Given the description of an element on the screen output the (x, y) to click on. 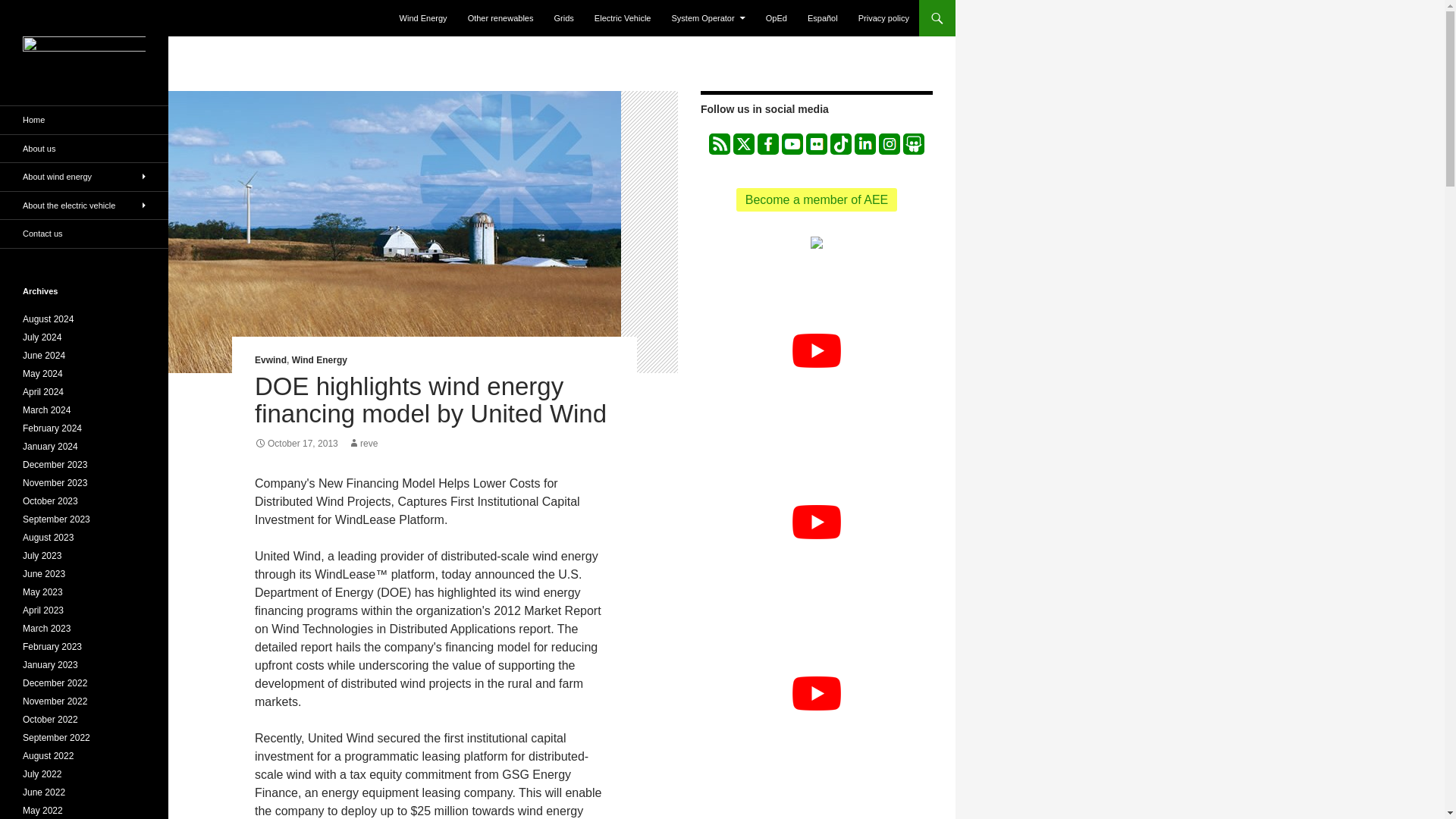
Other renewables (500, 18)
facebook (767, 143)
Tiktok (840, 143)
Wind Energy (423, 18)
System Operator (708, 18)
Evwind (270, 359)
reve (362, 443)
Electric Vehicle (623, 18)
Slideshare (913, 143)
Wind Energy (319, 359)
